Given the description of an element on the screen output the (x, y) to click on. 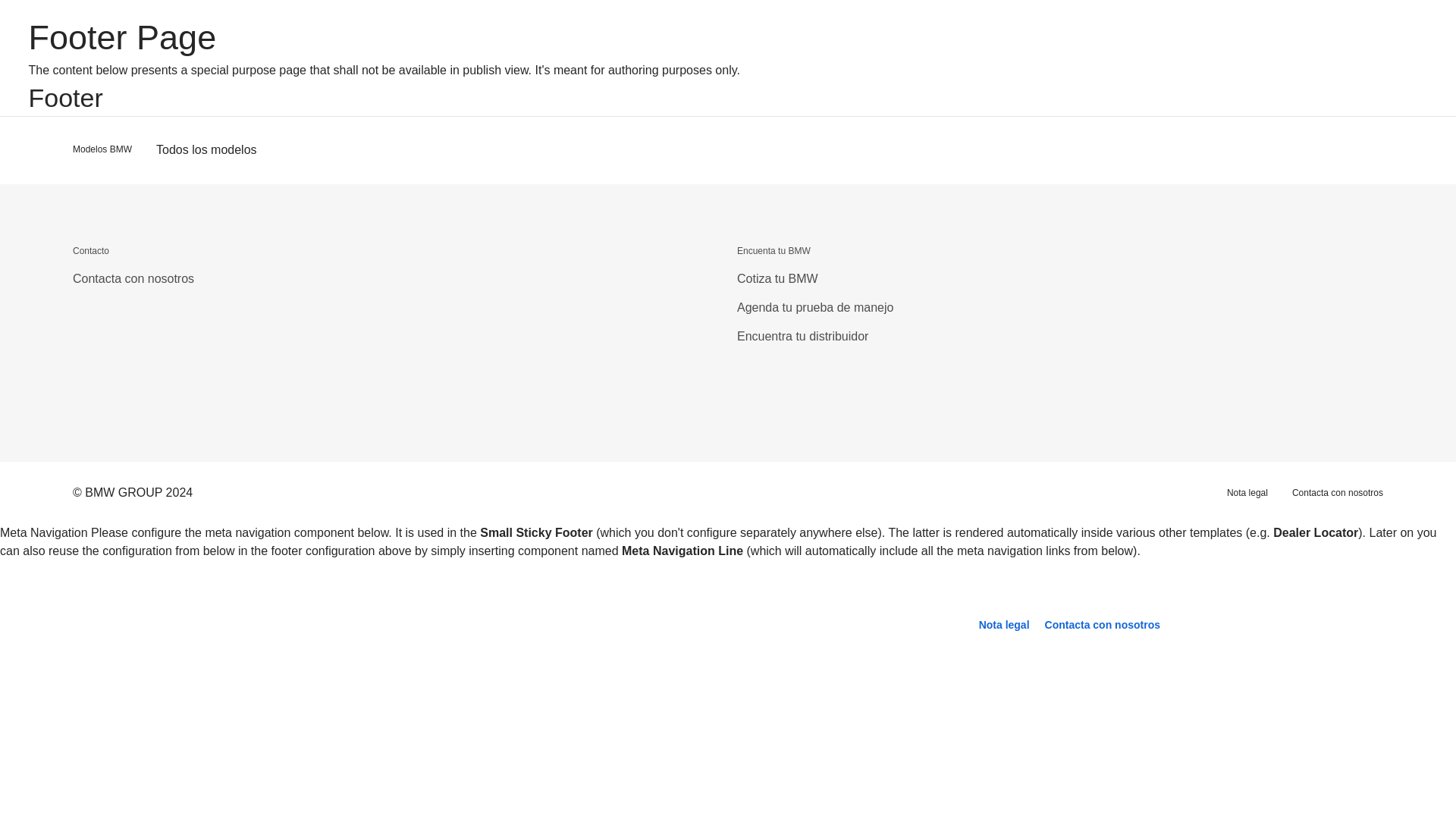
Contacta con nosotros (1101, 624)
Nota legal (1003, 624)
Agenda tu prueba de manejo (814, 307)
Contacta con nosotros (1337, 492)
Nota legal (1247, 492)
Todos los modelos (206, 149)
Contacta con nosotros (1101, 624)
Cotiza tu BMW (777, 278)
Contacta con nosotros (132, 278)
Encuentra tu distribuidor (801, 336)
